Given the description of an element on the screen output the (x, y) to click on. 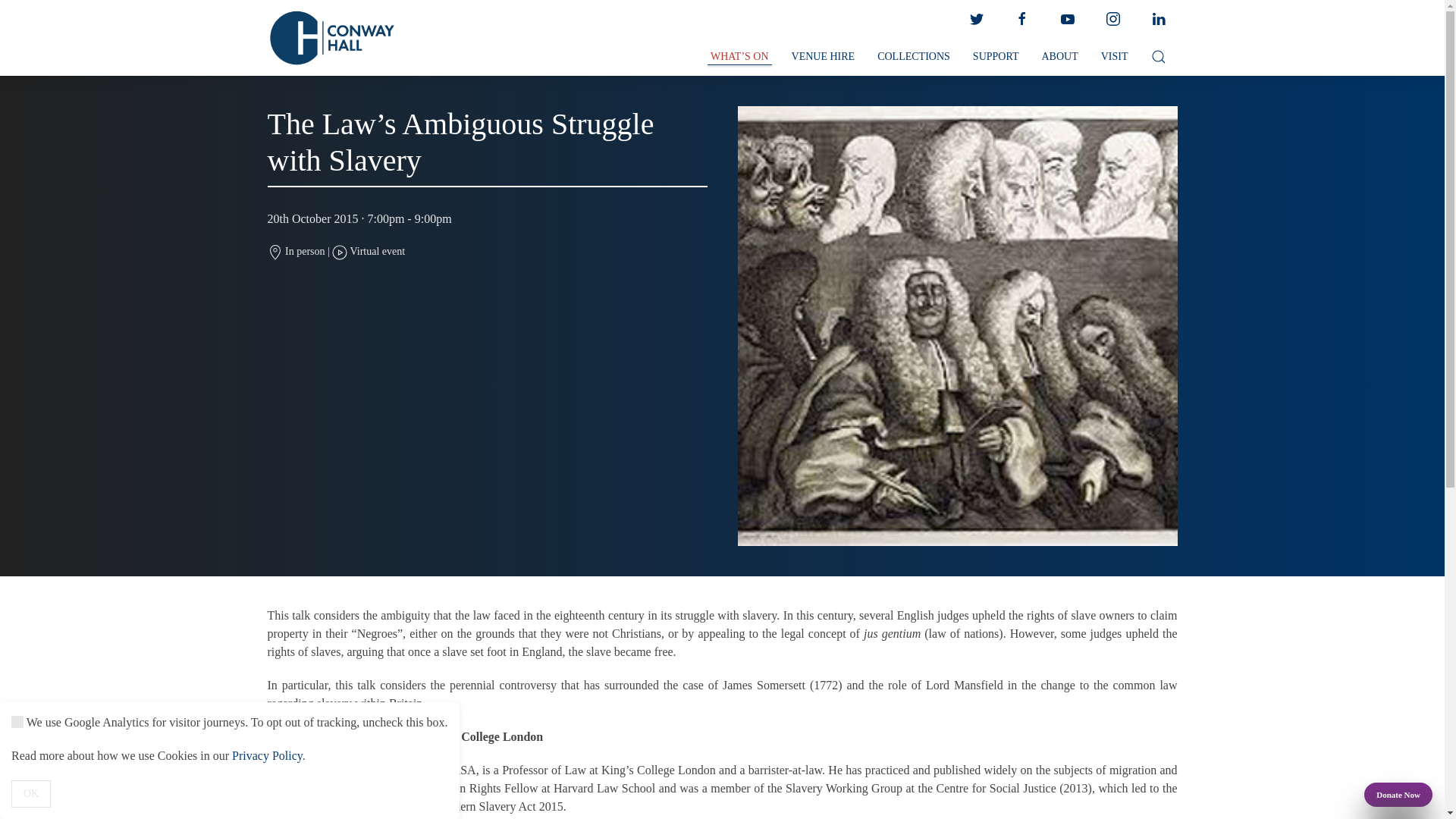
ABOUT (1059, 56)
COLLECTIONS (913, 56)
Conway Hall (331, 38)
OK (30, 793)
Facebook (1022, 19)
VISIT (1114, 56)
Donate Now (1398, 794)
Privacy Policy (266, 755)
SUPPORT (995, 56)
LinkedIn (1157, 19)
YouTube (1067, 19)
VENUE HIRE (823, 56)
on (17, 721)
instagram (1112, 19)
Twitter (975, 19)
